Given the description of an element on the screen output the (x, y) to click on. 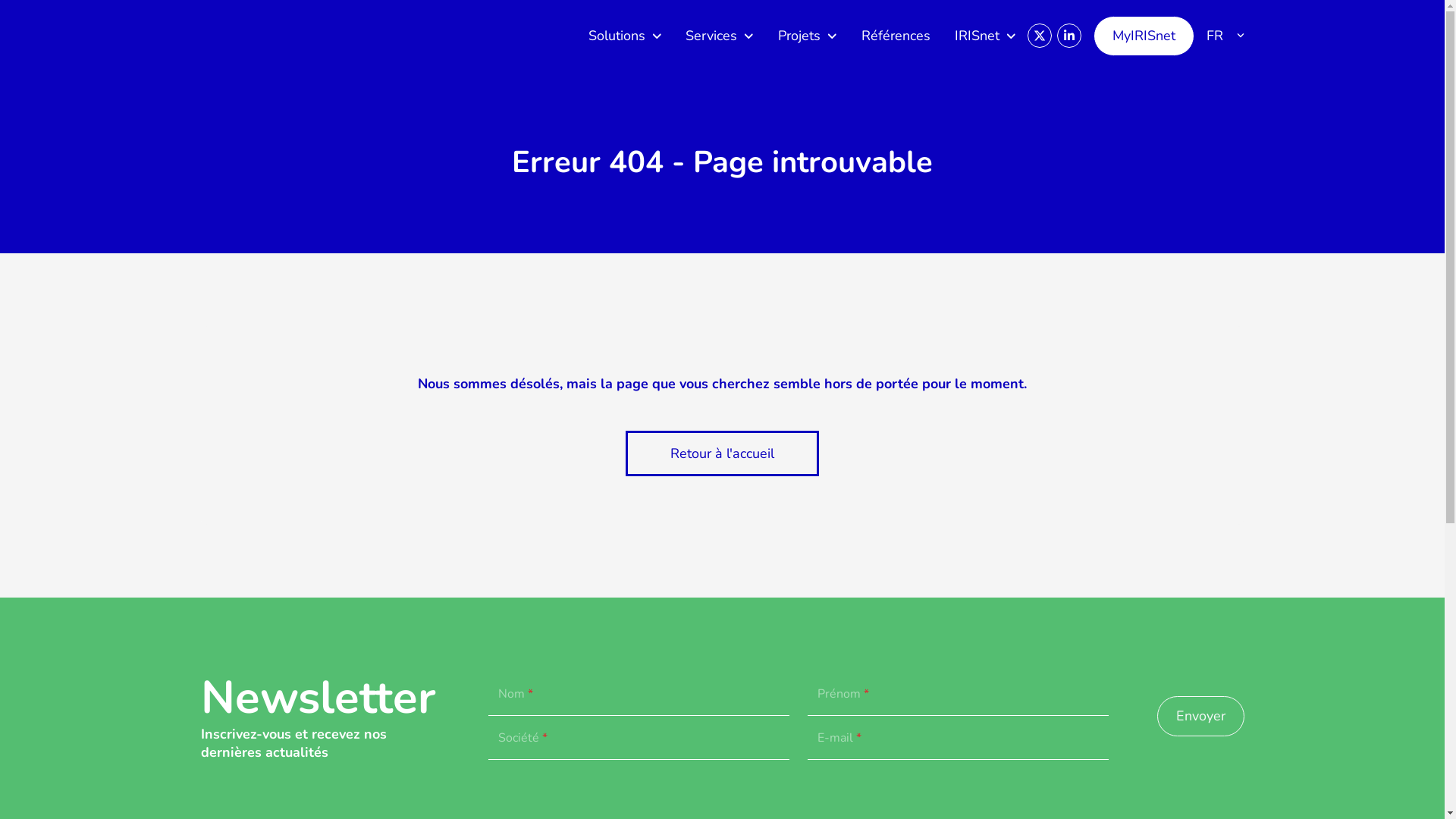
IRISnet Element type: text (985, 35)
Solutions Element type: text (625, 35)
Projets Element type: text (807, 35)
Envoyer Element type: text (1200, 716)
MyIRISnet Element type: text (1143, 35)
Services Element type: text (719, 35)
